Given the description of an element on the screen output the (x, y) to click on. 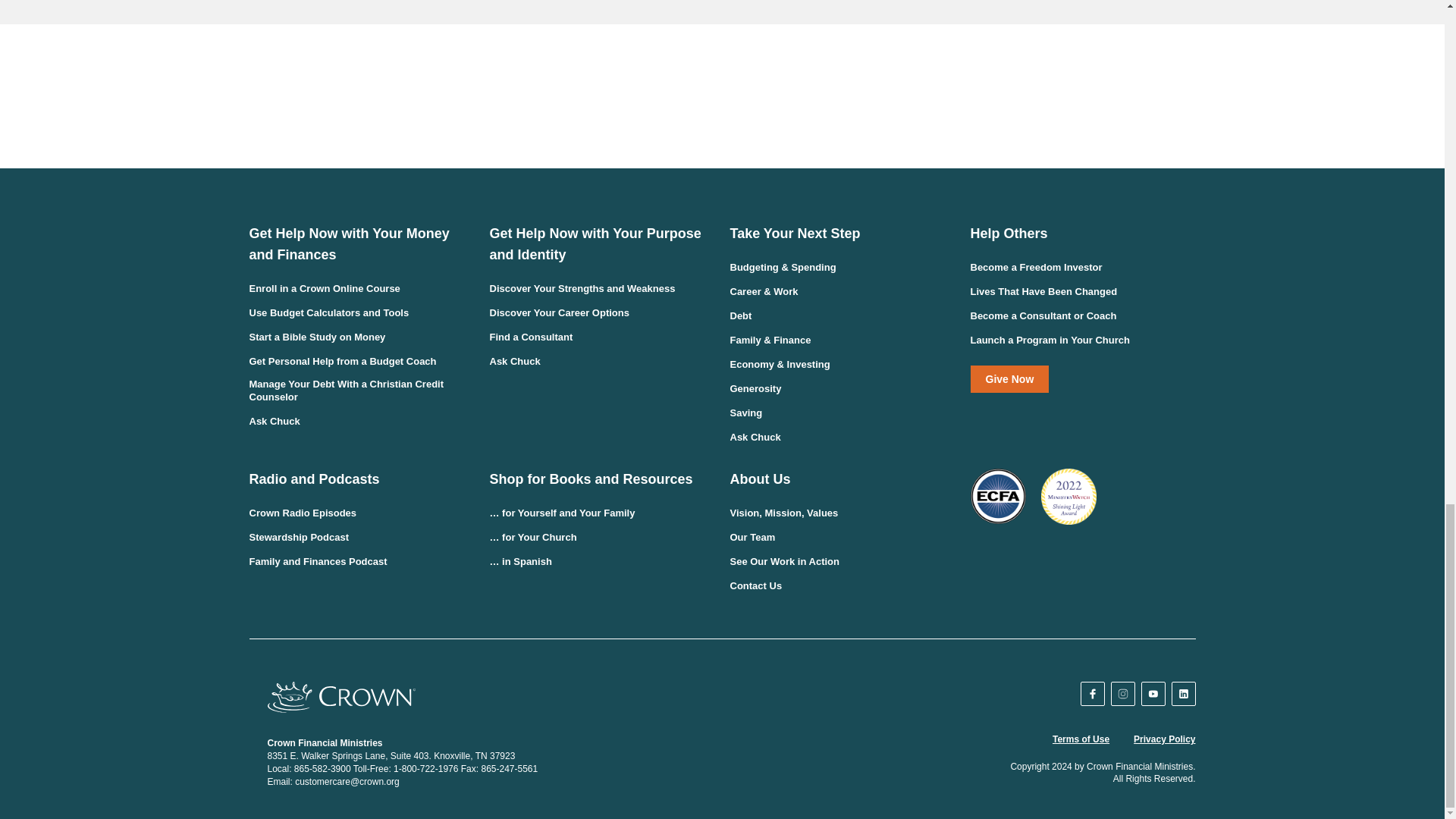
Ministry Watch Shining Award 2022 (1068, 496)
Ecfa Logo (998, 496)
Icon Linkedin (1183, 693)
Icon Instagram (1123, 693)
Crown Logo 2021 H White 2023 (340, 696)
Icon Youtube (1153, 693)
Icon Facebook F (1092, 693)
